Given the description of an element on the screen output the (x, y) to click on. 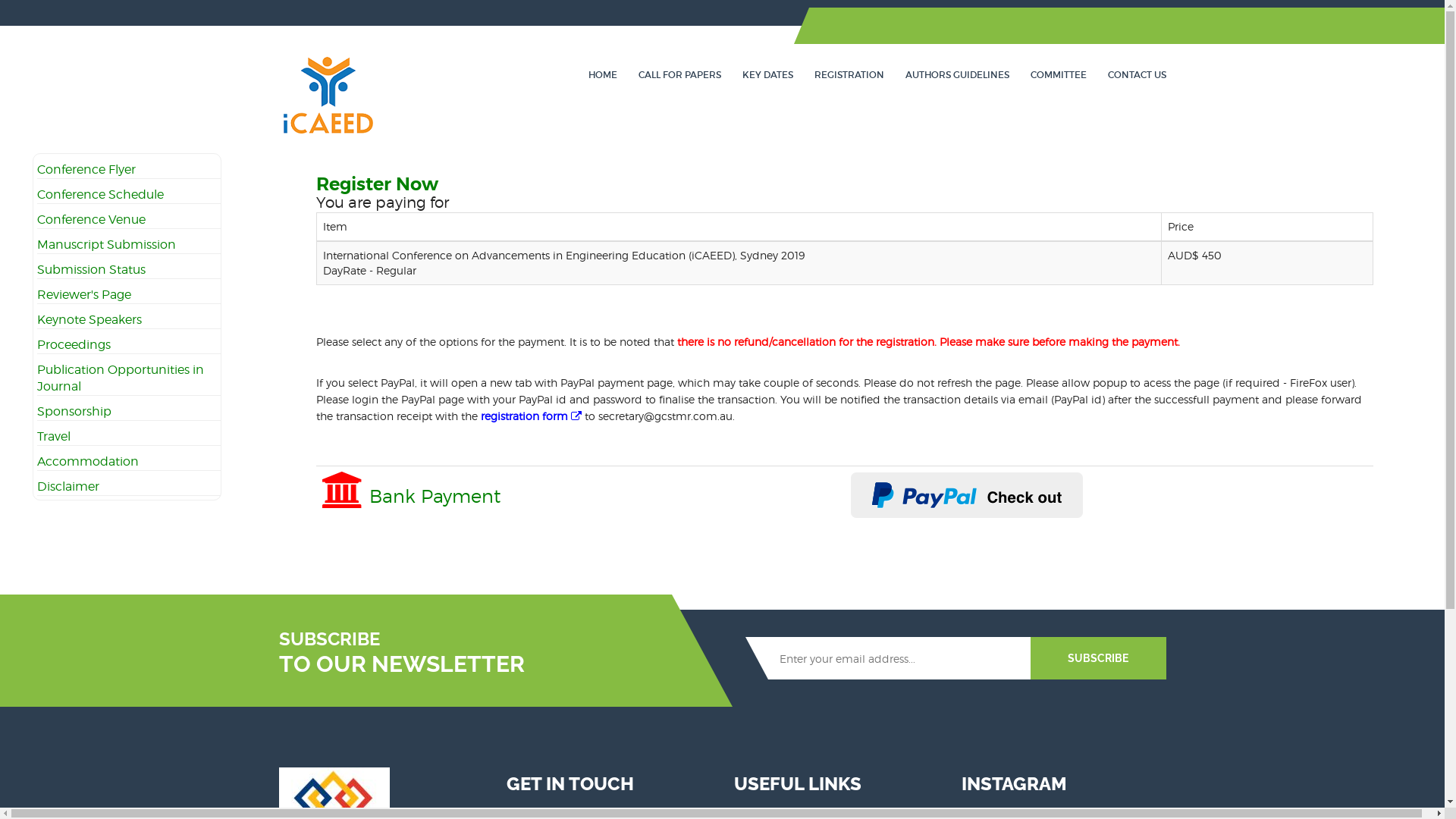
Conference Schedule Element type: text (100, 194)
registration form Element type: text (530, 415)
AUTHORS GUIDELINES Element type: text (957, 74)
Keynote Speakers Element type: text (89, 319)
Proceedings Element type: text (73, 344)
Reviewer's Page Element type: text (84, 294)
KEY DATES Element type: text (766, 74)
Publication Opportunities in Journal Element type: text (120, 377)
Manuscript Submission Element type: text (106, 244)
COMMITTEE Element type: text (1057, 74)
CALL FOR PAPERS Element type: text (679, 74)
Sponsorship Element type: text (74, 411)
Submission Status Element type: text (91, 269)
Conference Venue Element type: text (91, 219)
Conference Flyer Element type: text (86, 169)
Bank Payment Element type: text (411, 496)
Disclaimer Element type: text (68, 486)
HOME Element type: text (602, 74)
Travel Element type: text (53, 436)
Accommodation Element type: text (87, 461)
CONTACT US Element type: text (1136, 74)
REGISTRATION Element type: text (849, 74)
SUBSCRIBE Element type: text (1098, 658)
